Given the description of an element on the screen output the (x, y) to click on. 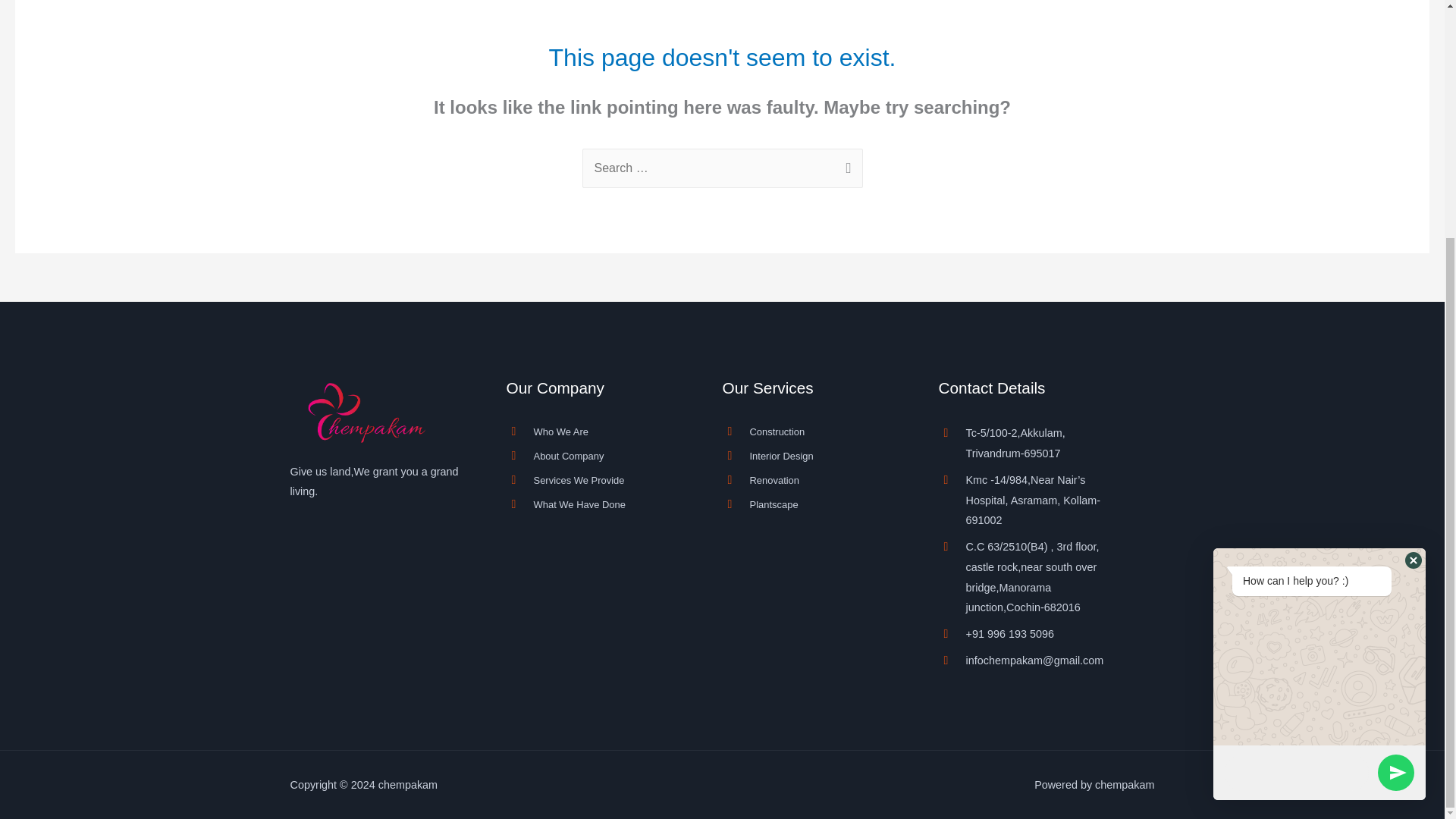
Who We Are (599, 432)
Interior Design (814, 456)
About Company (599, 456)
Construction (814, 432)
Plantscape (814, 505)
Renovation (814, 480)
What We Have Done (599, 505)
Services We Provide (599, 480)
